Given the description of an element on the screen output the (x, y) to click on. 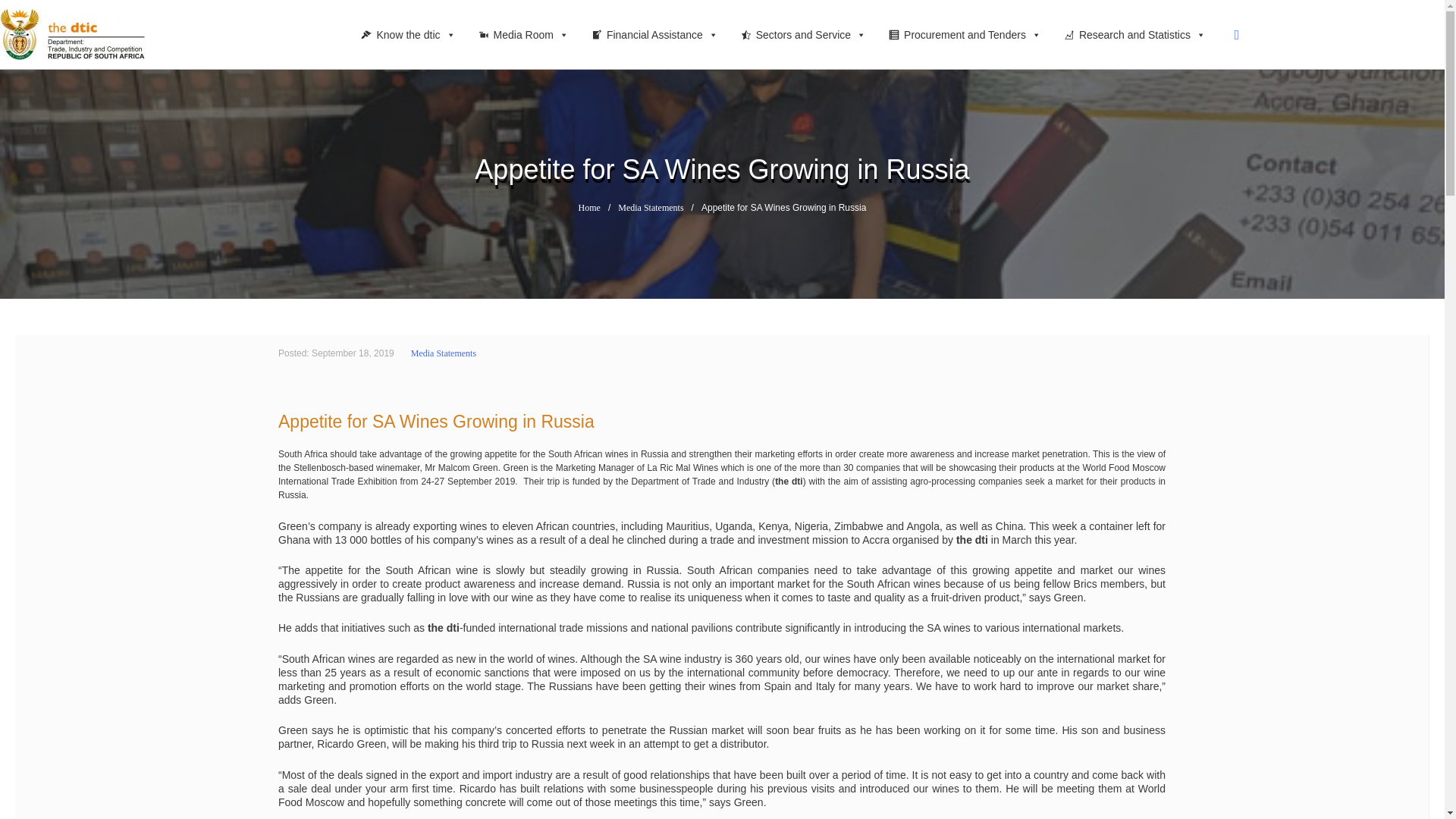
Know the dtic (411, 34)
Financial Assistance (658, 34)
Media Room (526, 34)
